Given the description of an element on the screen output the (x, y) to click on. 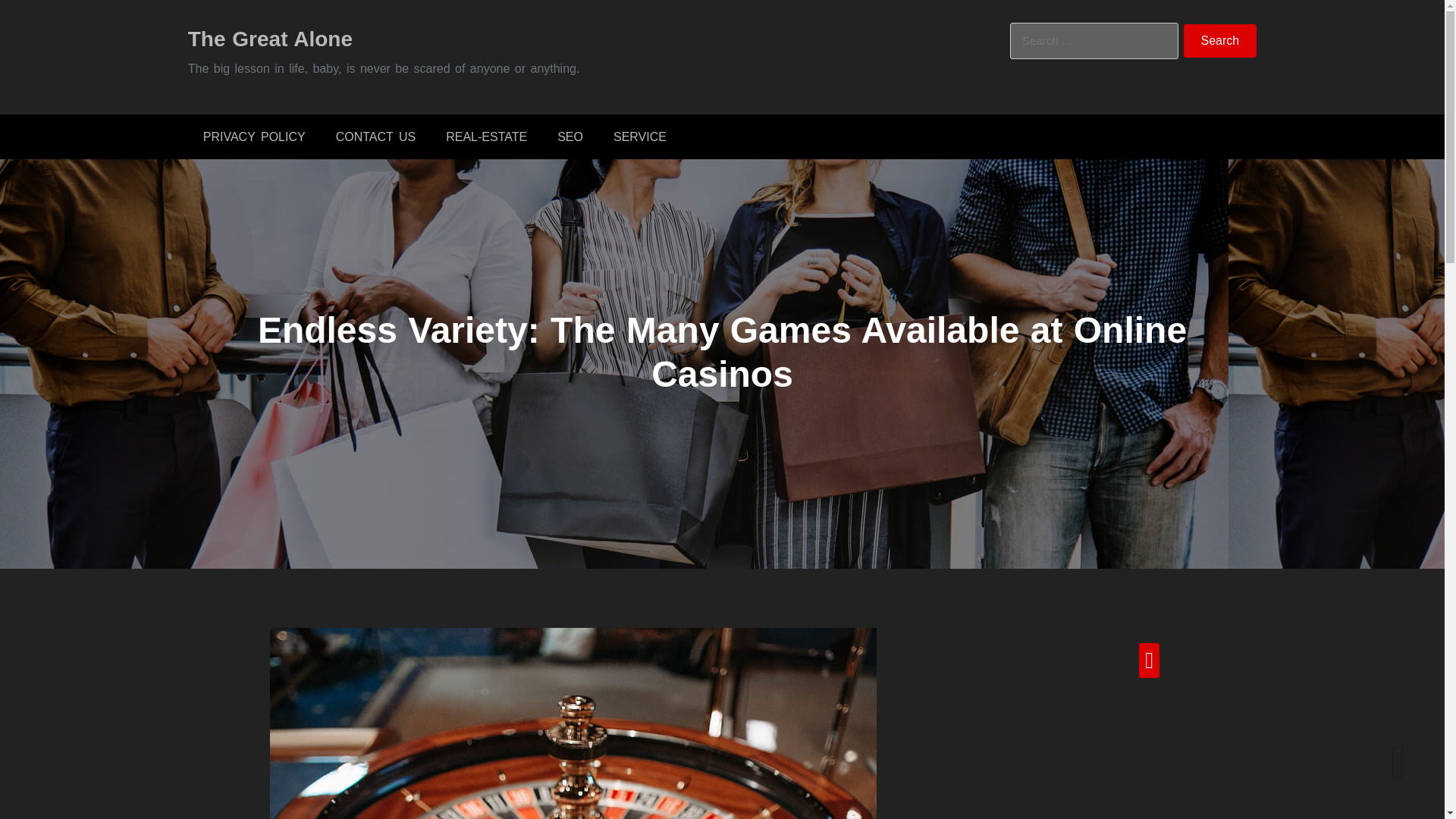
The Great Alone (269, 38)
Search (1220, 40)
CONTACT US (375, 136)
PRIVACY POLICY (253, 136)
REAL-ESTATE (485, 136)
SEO (569, 136)
SERVICE (639, 136)
Search (1220, 40)
Search (1220, 40)
